Given the description of an element on the screen output the (x, y) to click on. 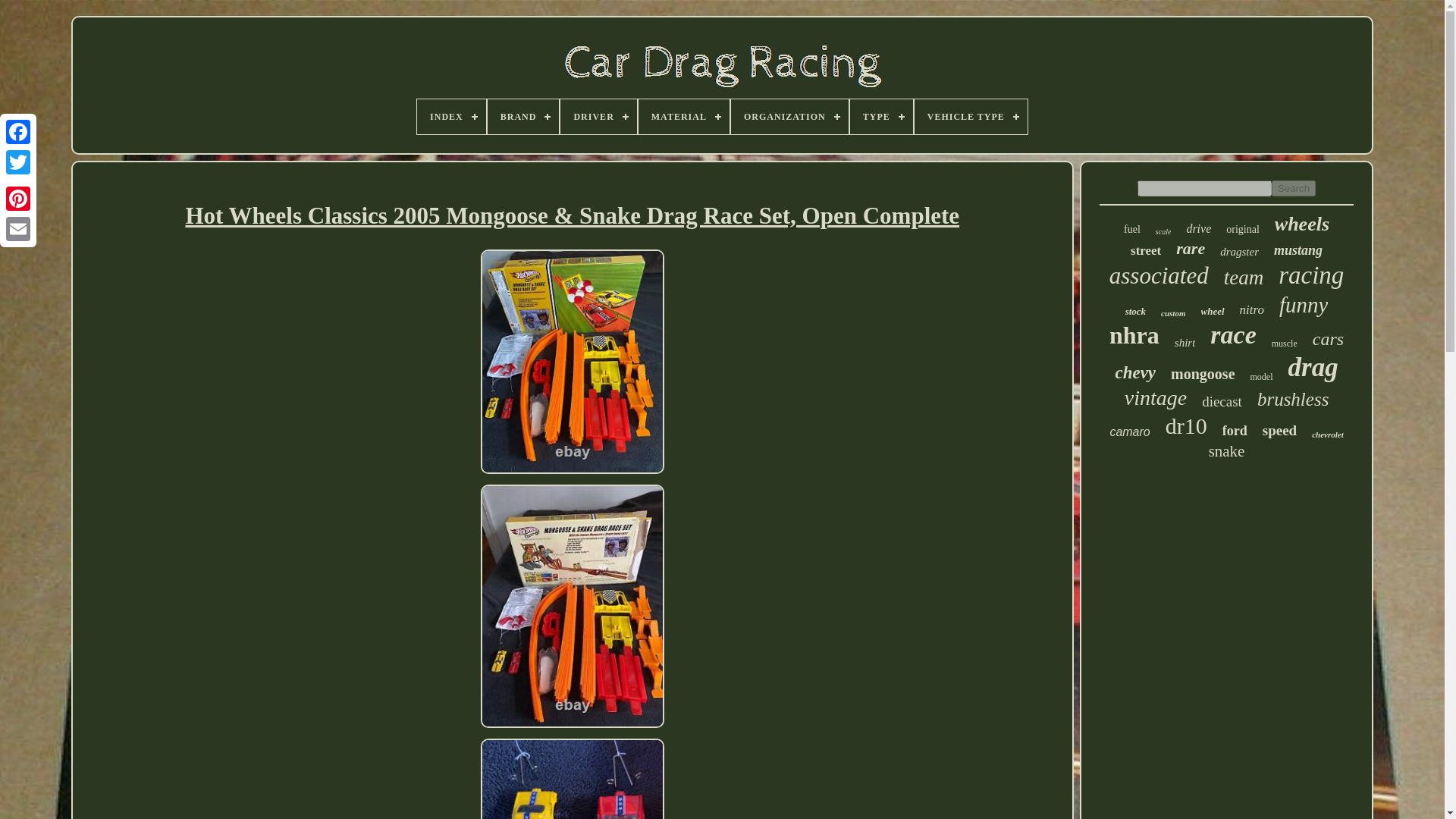
INDEX (451, 116)
DRIVER (598, 116)
Facebook (17, 132)
Search (1293, 188)
BRAND (523, 116)
